Given the description of an element on the screen output the (x, y) to click on. 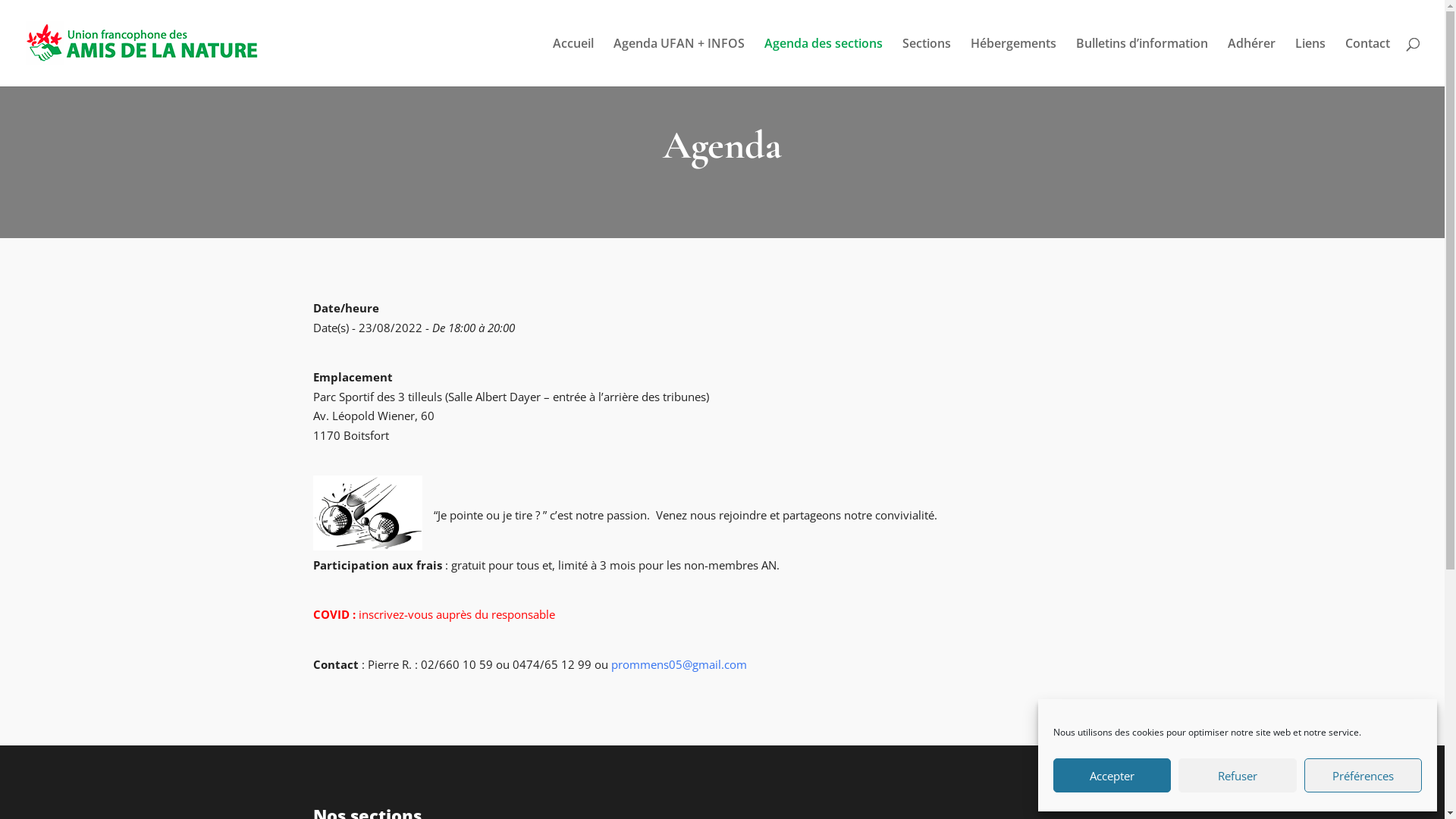
Agenda des sections Element type: text (823, 61)
Liens Element type: text (1310, 61)
prommens05@gmail.com Element type: text (678, 663)
Agenda UFAN + INFOS Element type: text (678, 61)
Accepter Element type: text (1111, 775)
Refuser Element type: text (1236, 775)
Accueil Element type: text (572, 61)
Contact Element type: text (1367, 61)
Sections Element type: text (926, 61)
